Given the description of an element on the screen output the (x, y) to click on. 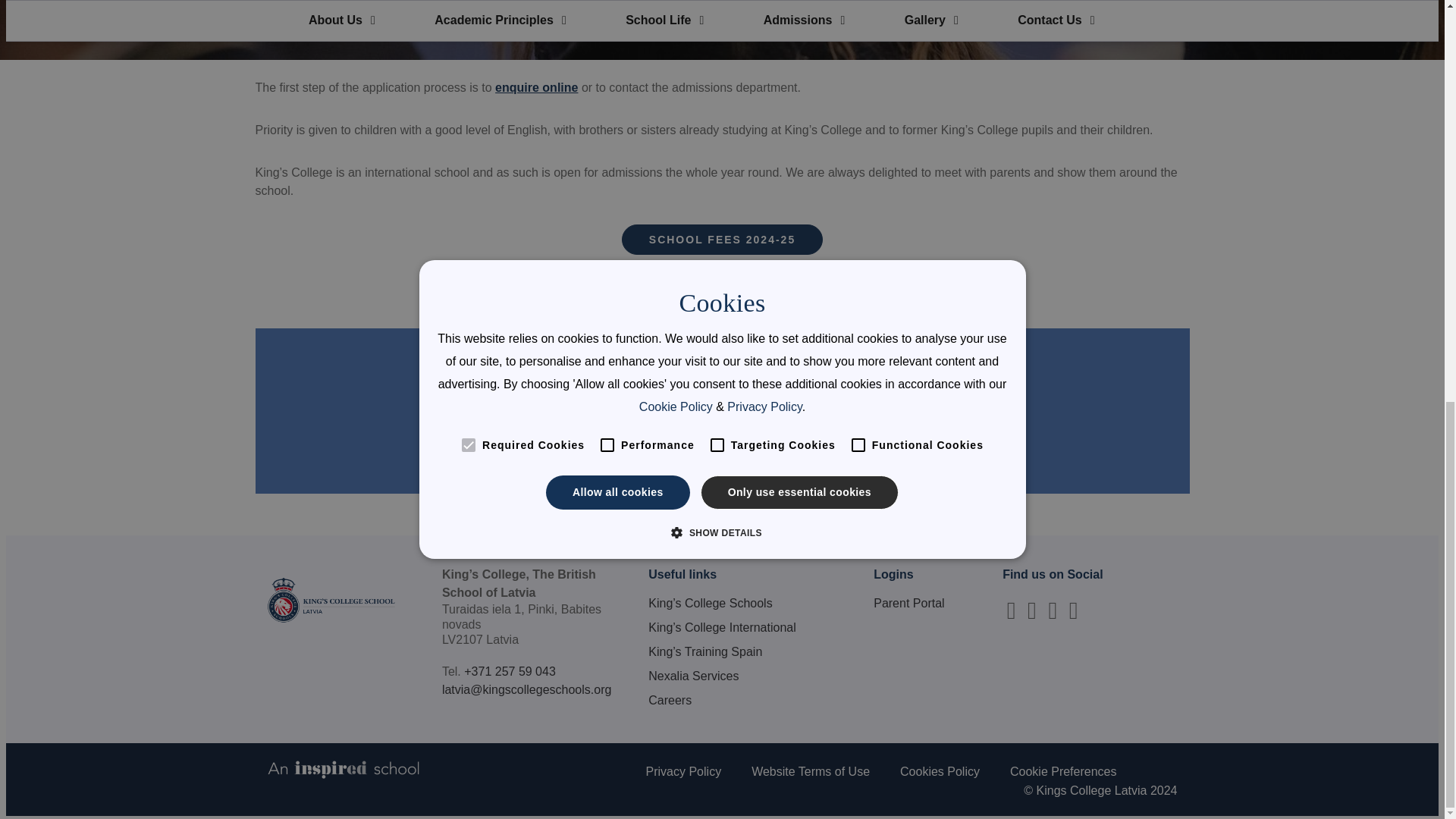
admissions-information-fees-girl.jpg (725, 29)
